Given the description of an element on the screen output the (x, y) to click on. 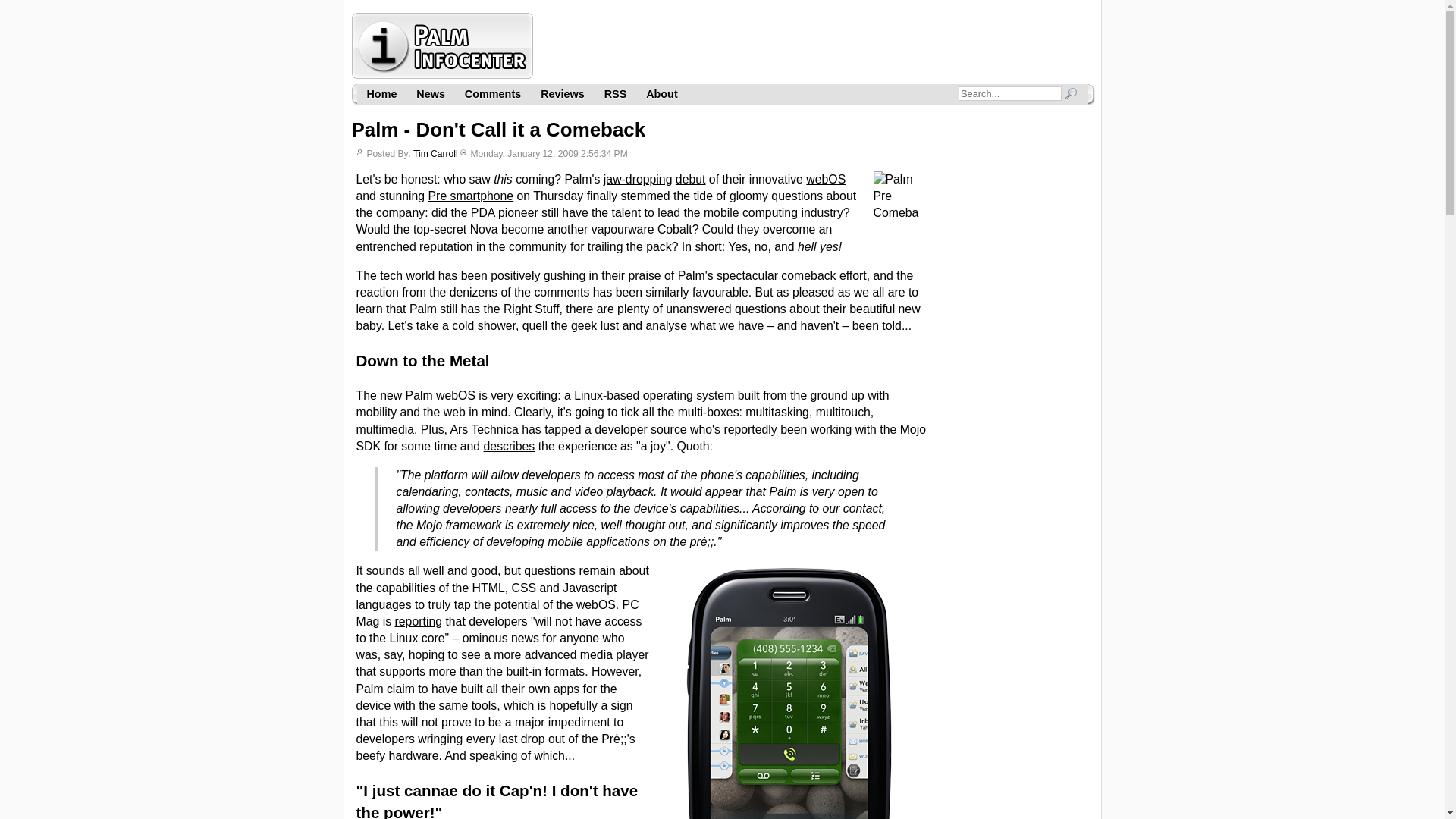
Go (1069, 93)
gushing (564, 275)
Comments (492, 94)
Tim Carroll (435, 153)
News (430, 94)
Pre smartphone (470, 195)
Advertisement (816, 45)
jaw-dropping (638, 178)
Palm Infocenter Home (381, 94)
Search... (1009, 93)
